Given the description of an element on the screen output the (x, y) to click on. 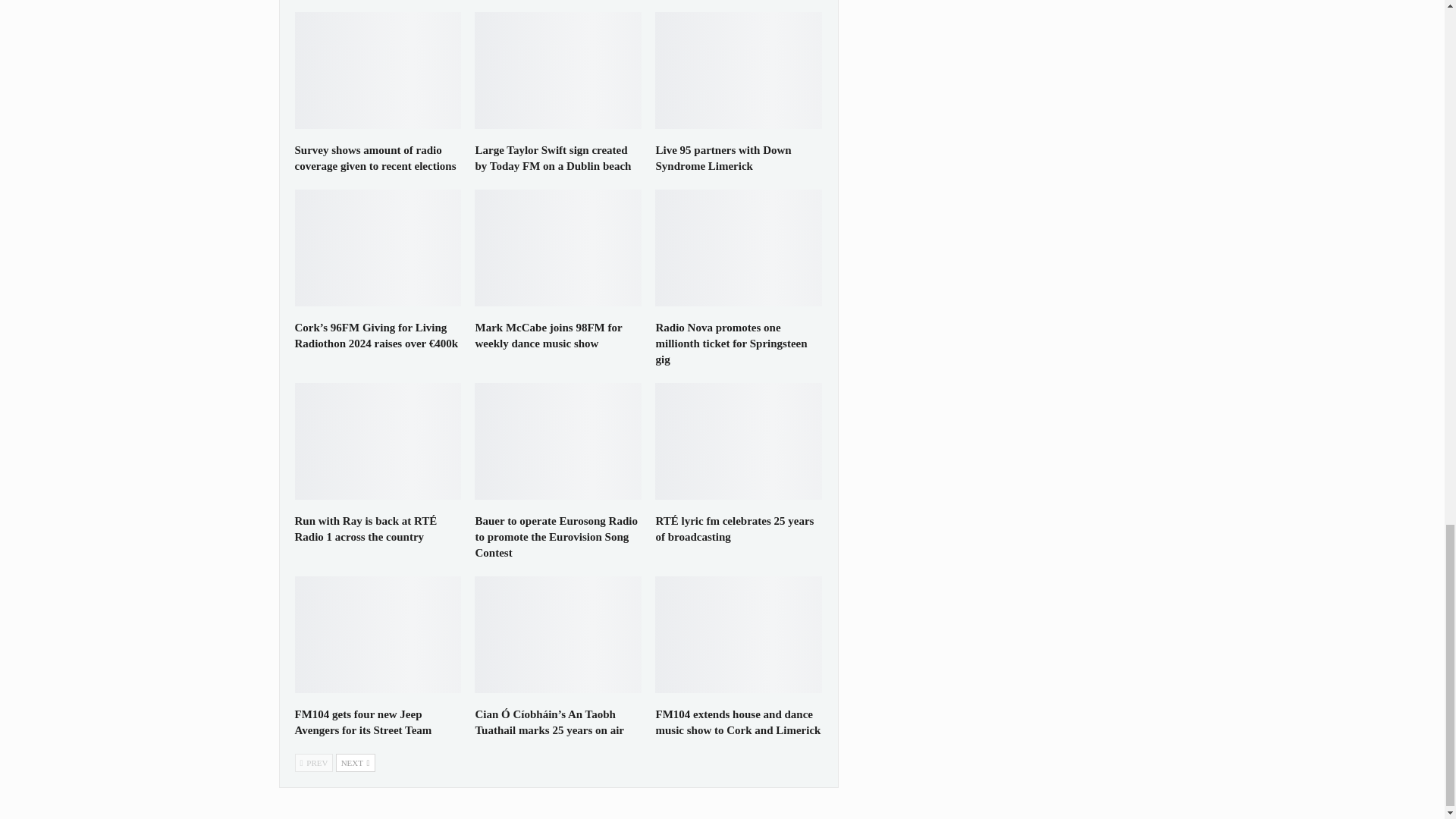
Mark McCabe joins 98FM for weekly dance music show (547, 335)
Radio Nova promotes one millionth ticket for Springsteen gig (738, 247)
Live 95 partners with Down Syndrome Limerick (738, 70)
Radio Nova promotes one millionth ticket for Springsteen gig (730, 343)
Live 95 partners with Down Syndrome Limerick (722, 157)
Mark McCabe joins 98FM for weekly dance music show (558, 247)
